Given the description of an element on the screen output the (x, y) to click on. 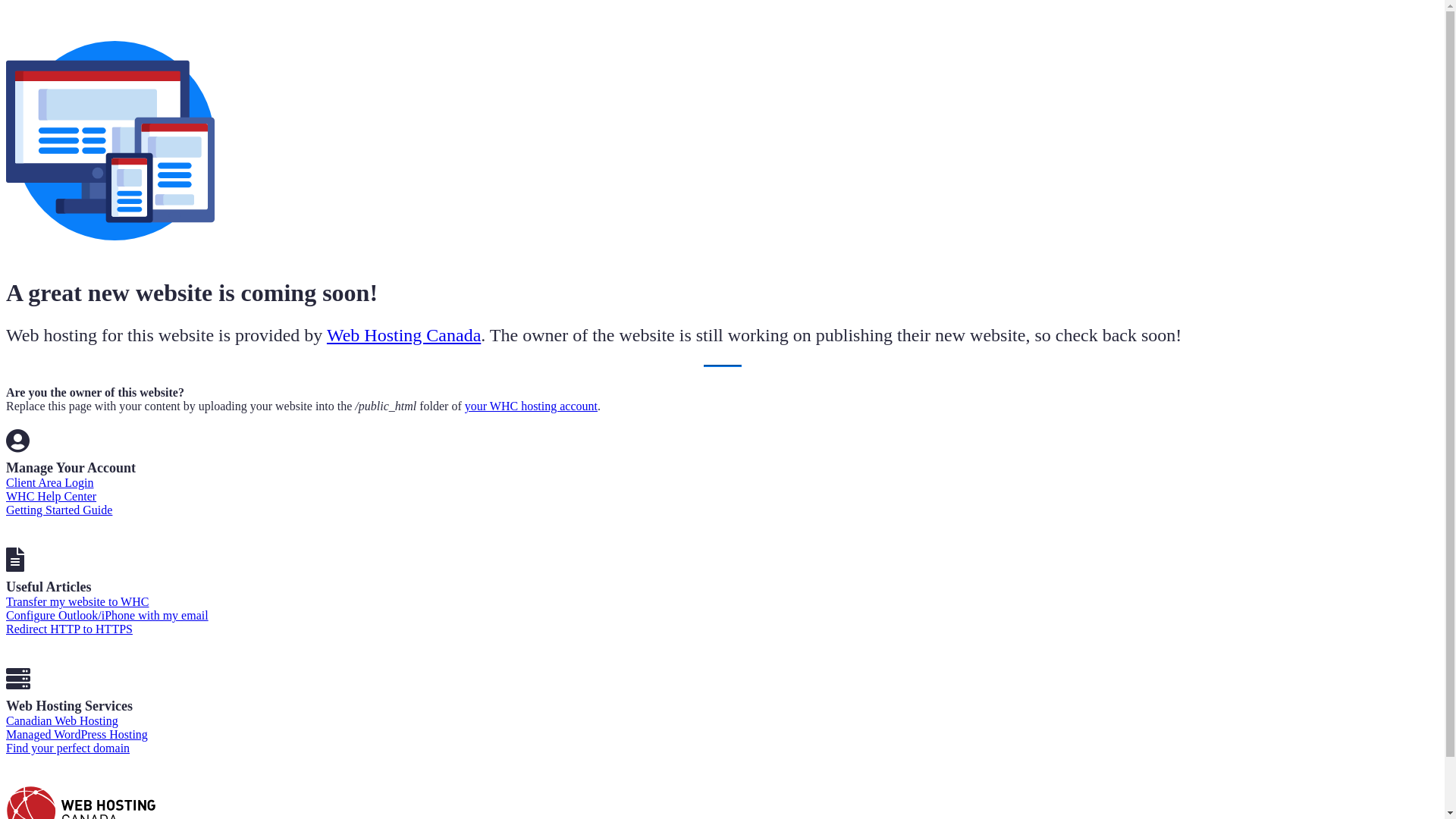
Find your perfect domain Element type: text (67, 747)
your WHC hosting account Element type: text (530, 405)
Managed WordPress Hosting Element type: text (76, 734)
Transfer my website to WHC Element type: text (77, 601)
WHC Help Center Element type: text (51, 495)
Getting Started Guide Element type: text (59, 509)
Redirect HTTP to HTTPS Element type: text (69, 628)
Configure Outlook/iPhone with my email Element type: text (107, 614)
Web Hosting Canada Element type: text (403, 335)
Canadian Web Hosting Element type: text (62, 720)
Client Area Login Element type: text (50, 482)
